Given the description of an element on the screen output the (x, y) to click on. 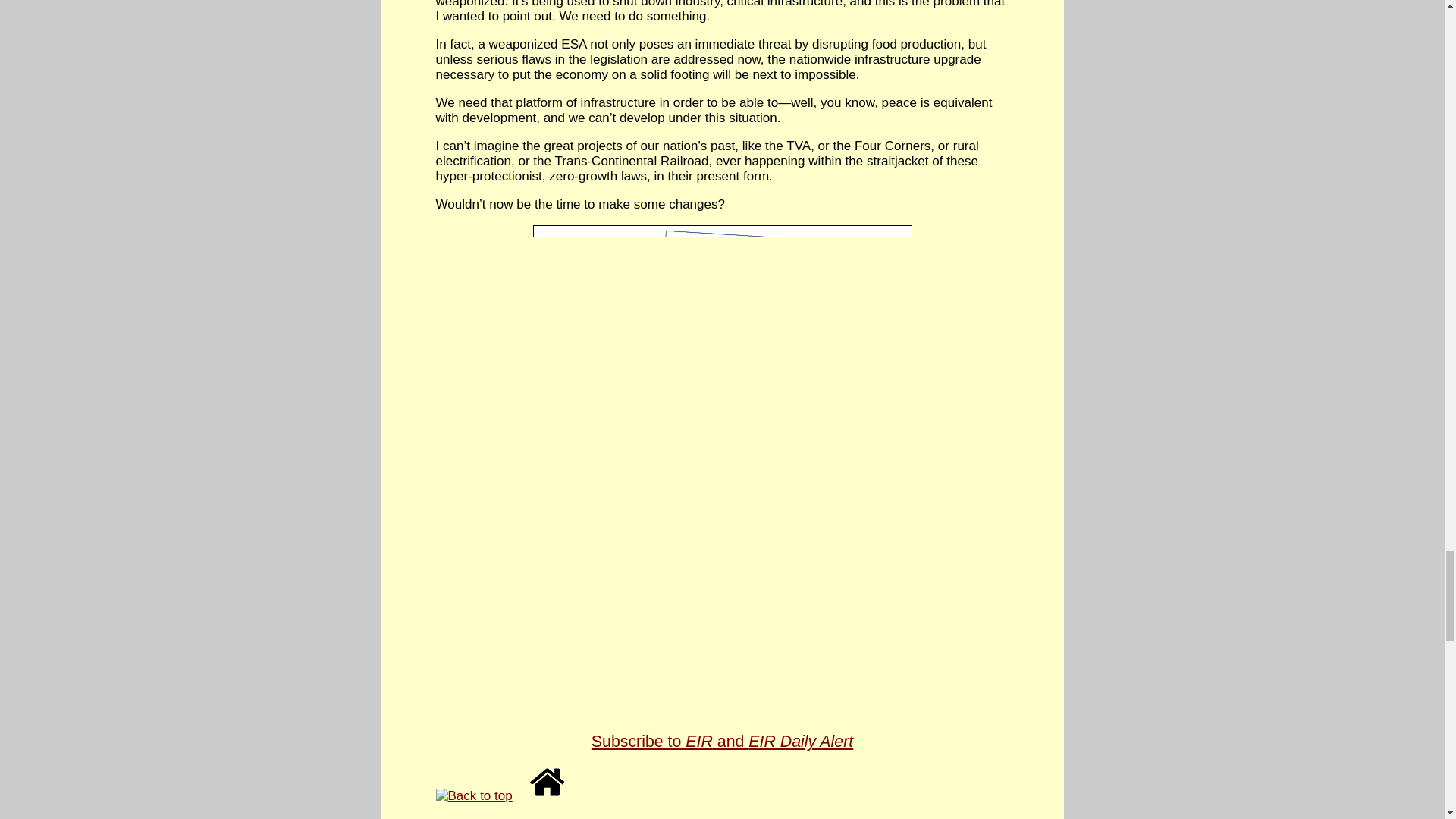
Back to top (473, 795)
Go to home page (547, 782)
Subscribe to EIR and EIR Daily Alert (721, 732)
